Given the description of an element on the screen output the (x, y) to click on. 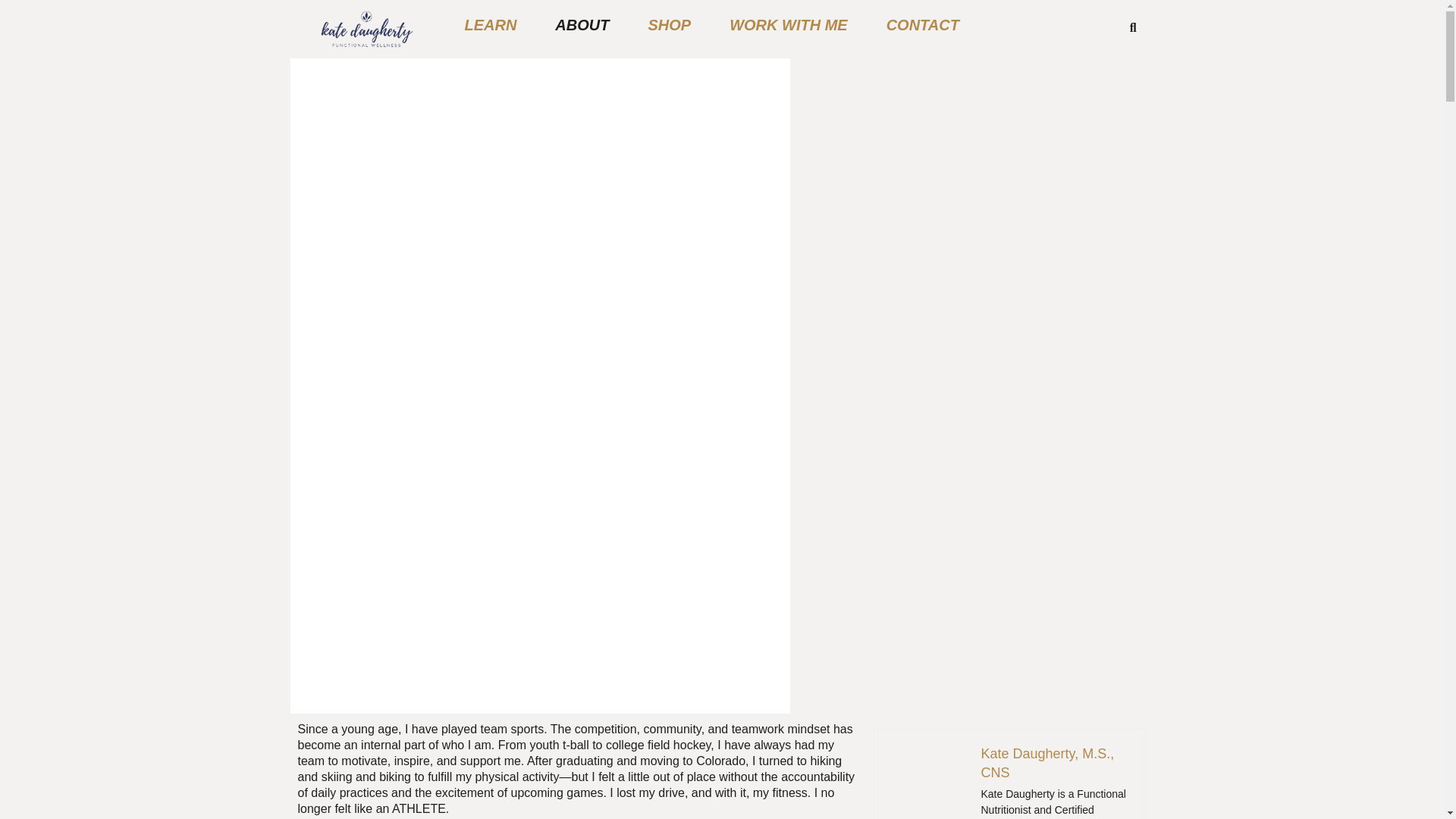
WORK WITH ME (788, 24)
LEARN (489, 24)
CONTACT (922, 24)
Kate Daugherty, M.S., CNS (1046, 763)
SHOP (668, 24)
ABOUT (582, 24)
